Given the description of an element on the screen output the (x, y) to click on. 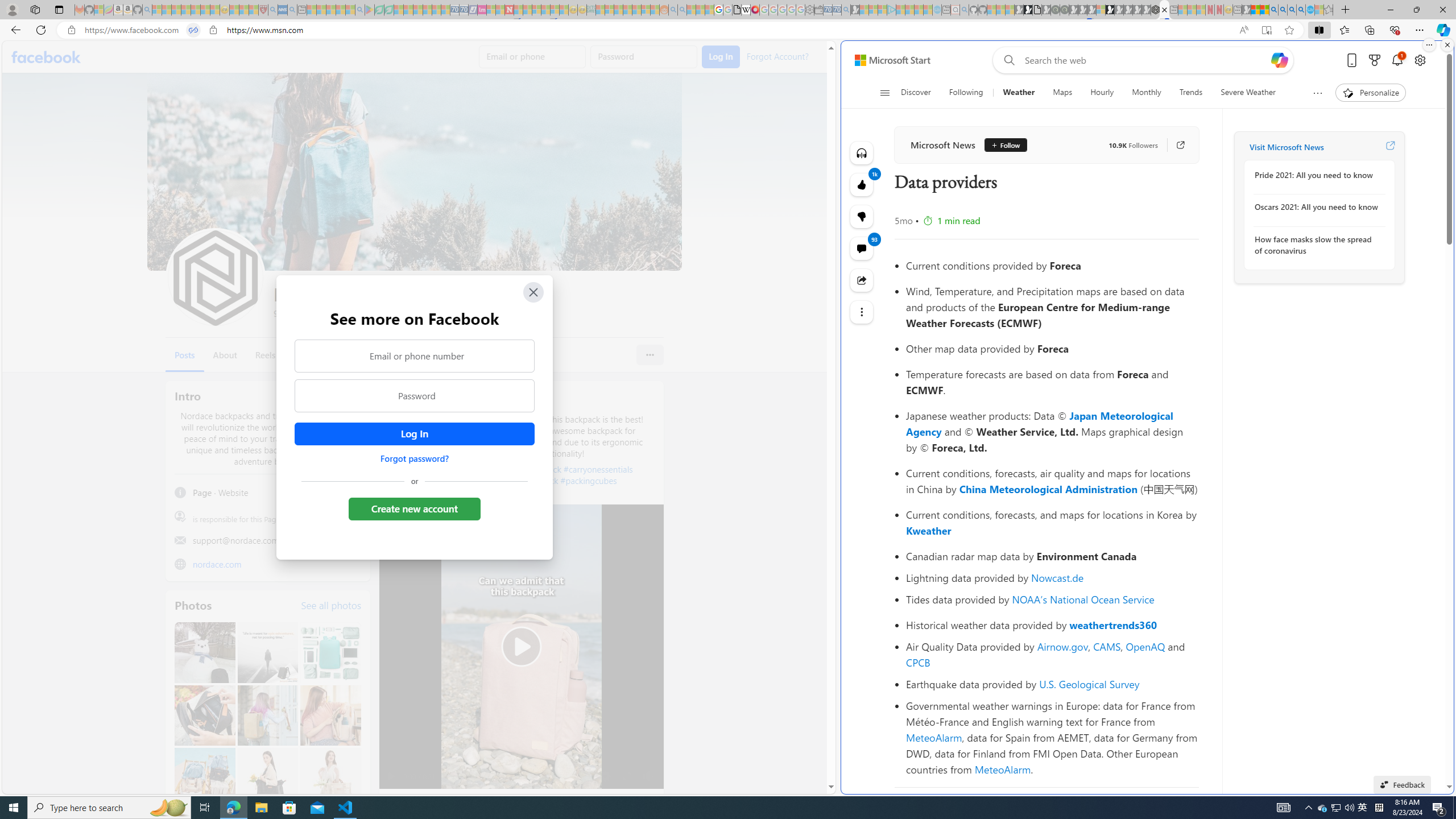
Bluey: Let's Play! - Apps on Google Play - Sleeping (369, 9)
Skip to content (888, 59)
Microsoft rewards (1374, 60)
github - Search - Sleeping (964, 9)
Personal Profile (12, 9)
Share this story (861, 279)
Trends (1190, 92)
Wallet - Sleeping (818, 9)
New tab - Sleeping (1236, 9)
Discover (915, 92)
Browser essentials (1394, 29)
Minimize (1390, 9)
